Given the description of an element on the screen output the (x, y) to click on. 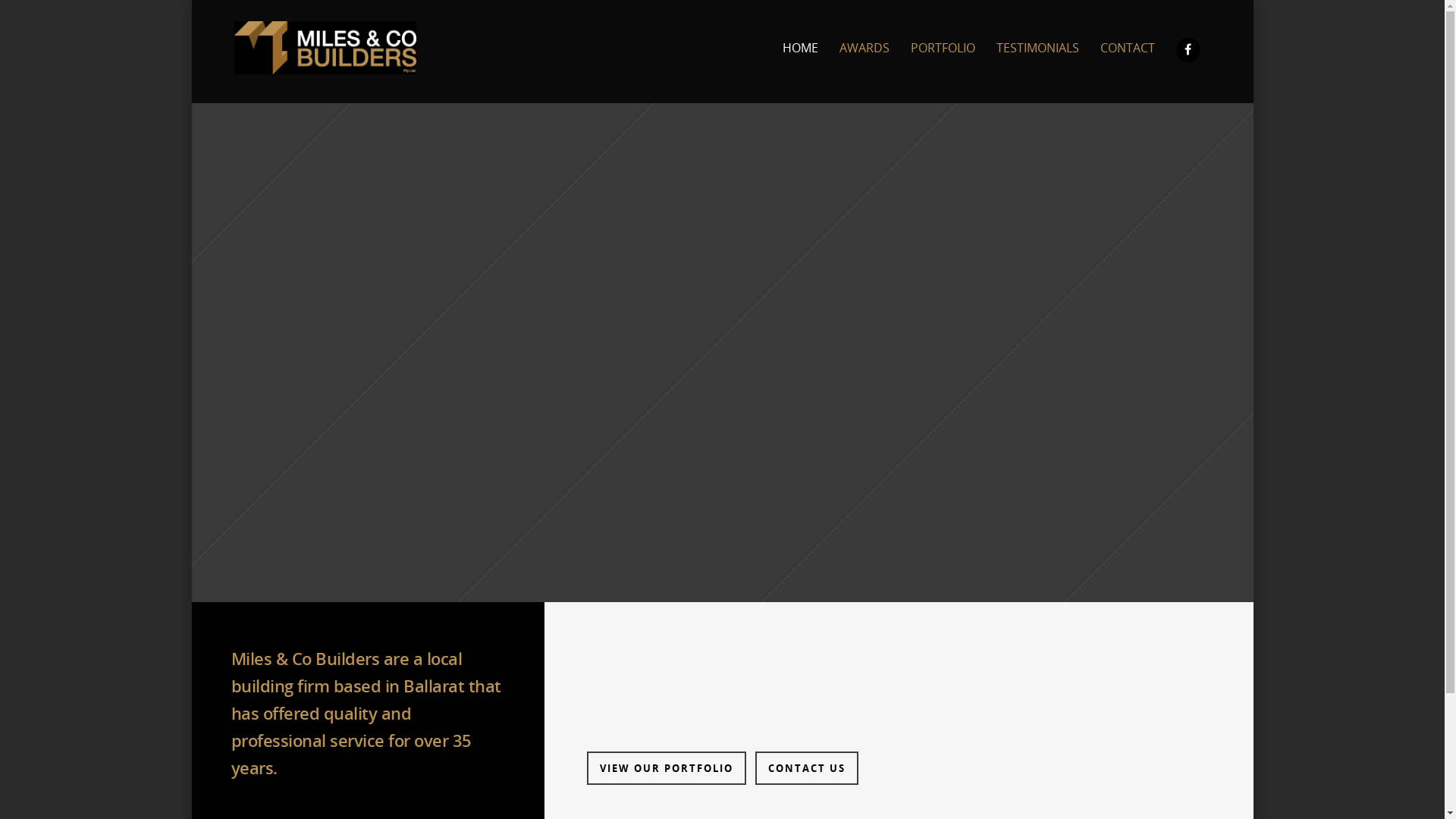
TESTIMONIALS Element type: text (1036, 58)
CONTACT Element type: text (1127, 58)
CONTACT US Element type: text (806, 767)
AWARDS Element type: text (864, 58)
HOME Element type: text (799, 58)
VIEW OUR PORTFOLIO Element type: text (666, 767)
PORTFOLIO Element type: text (942, 58)
